Given the description of an element on the screen output the (x, y) to click on. 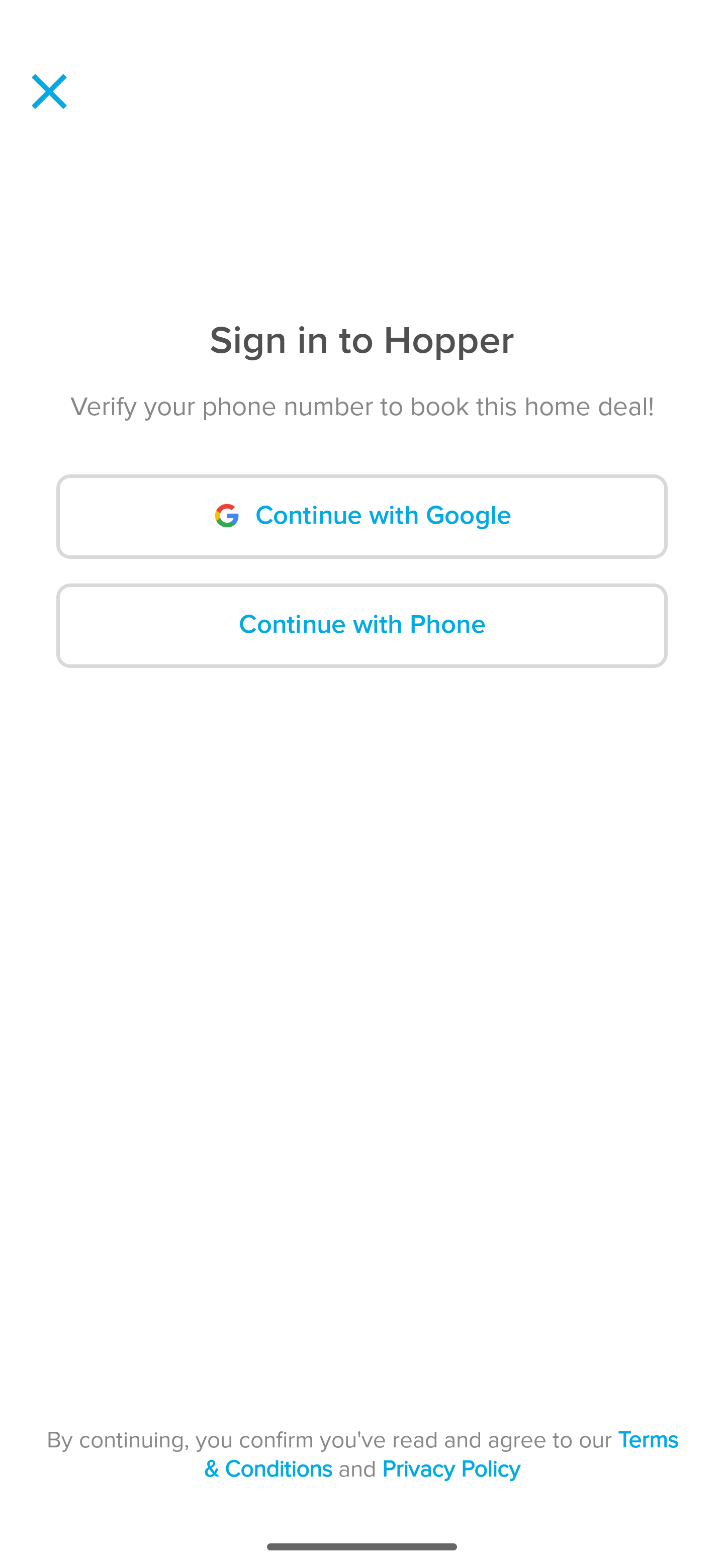
Navigate up (49, 91)
‍ Continue with Google (361, 516)
‍Continue with Phone (361, 625)
